Given the description of an element on the screen output the (x, y) to click on. 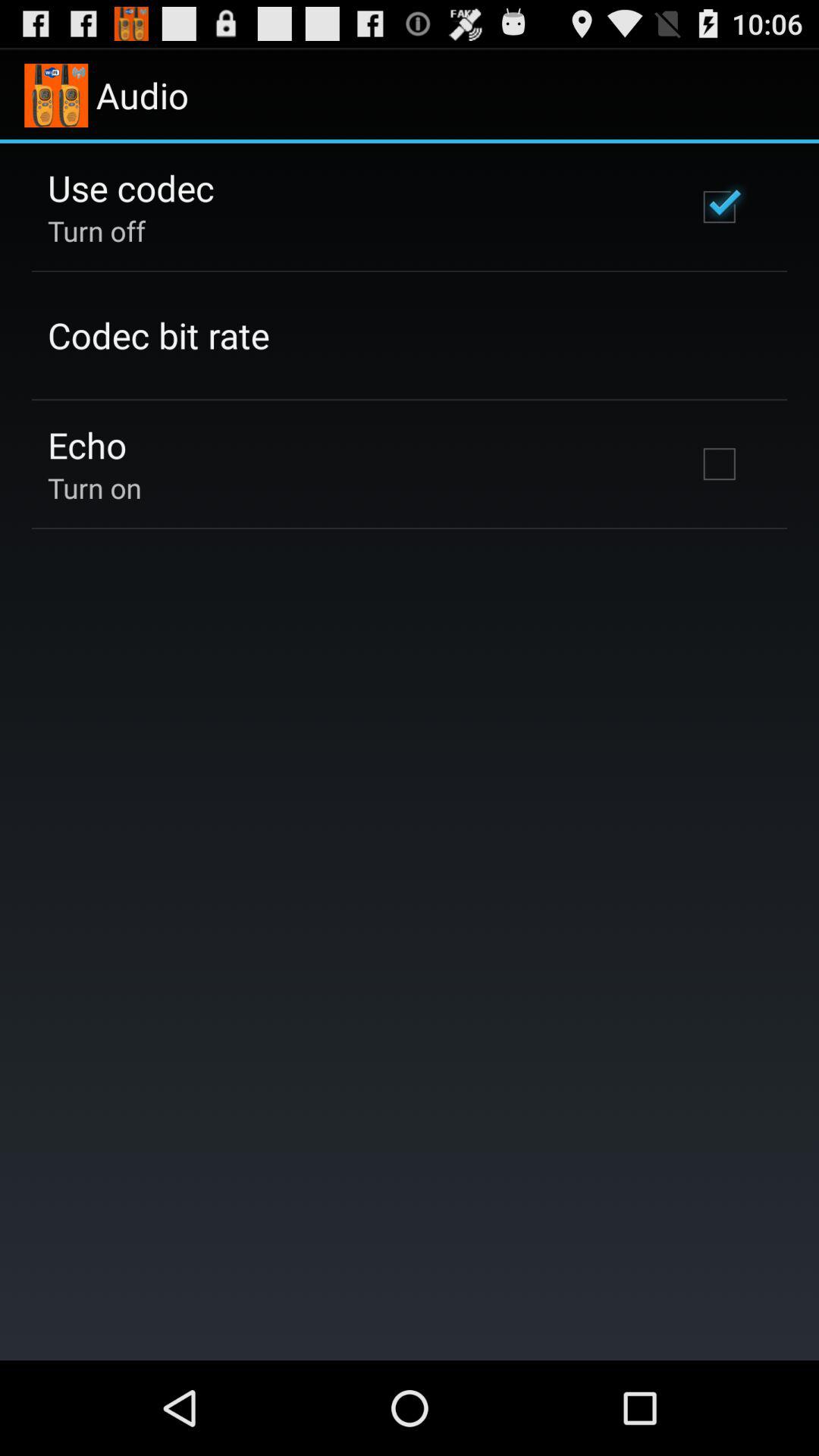
launch the item above turn off item (130, 187)
